Given the description of an element on the screen output the (x, y) to click on. 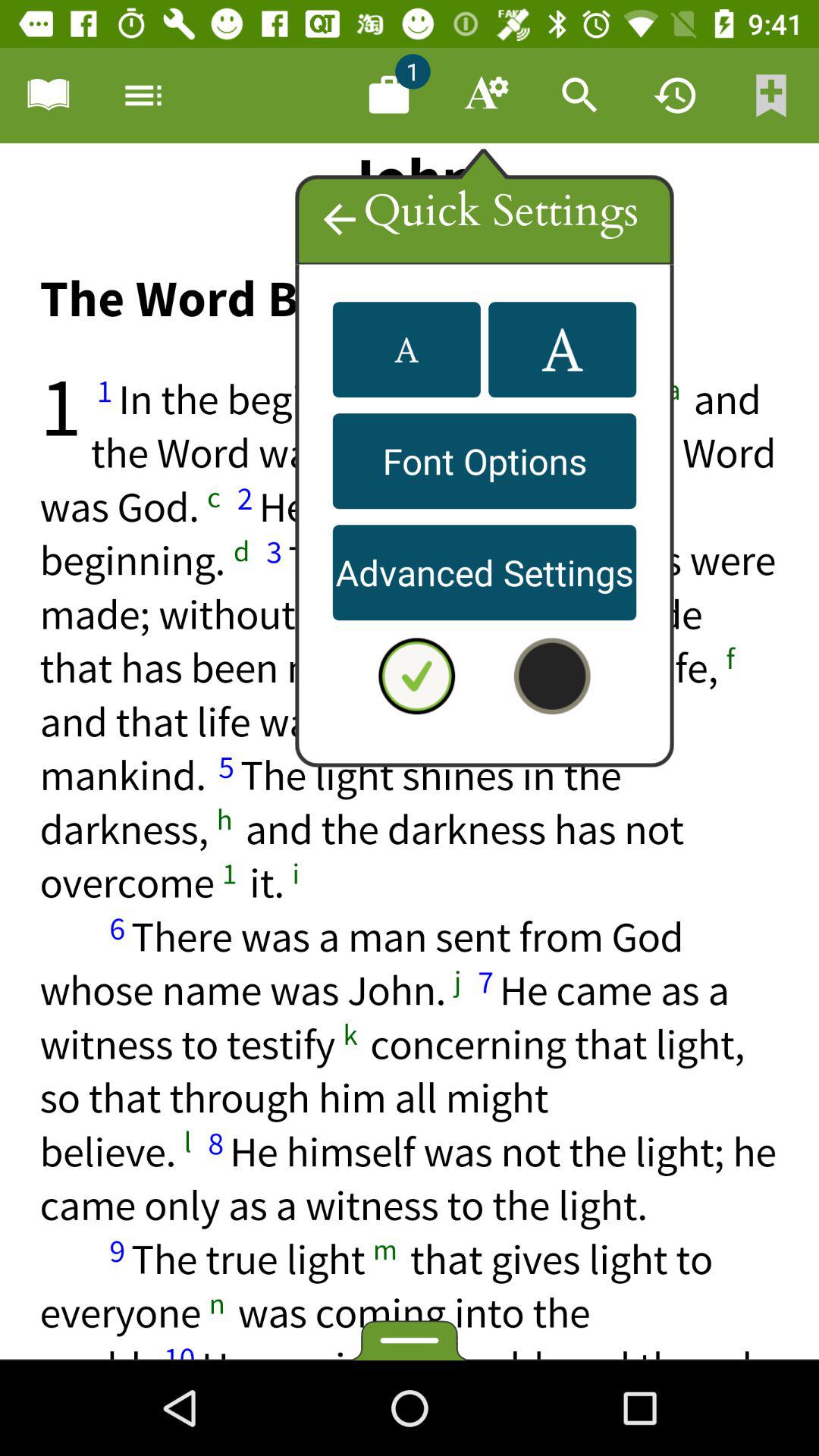
change font setting (406, 349)
